Given the description of an element on the screen output the (x, y) to click on. 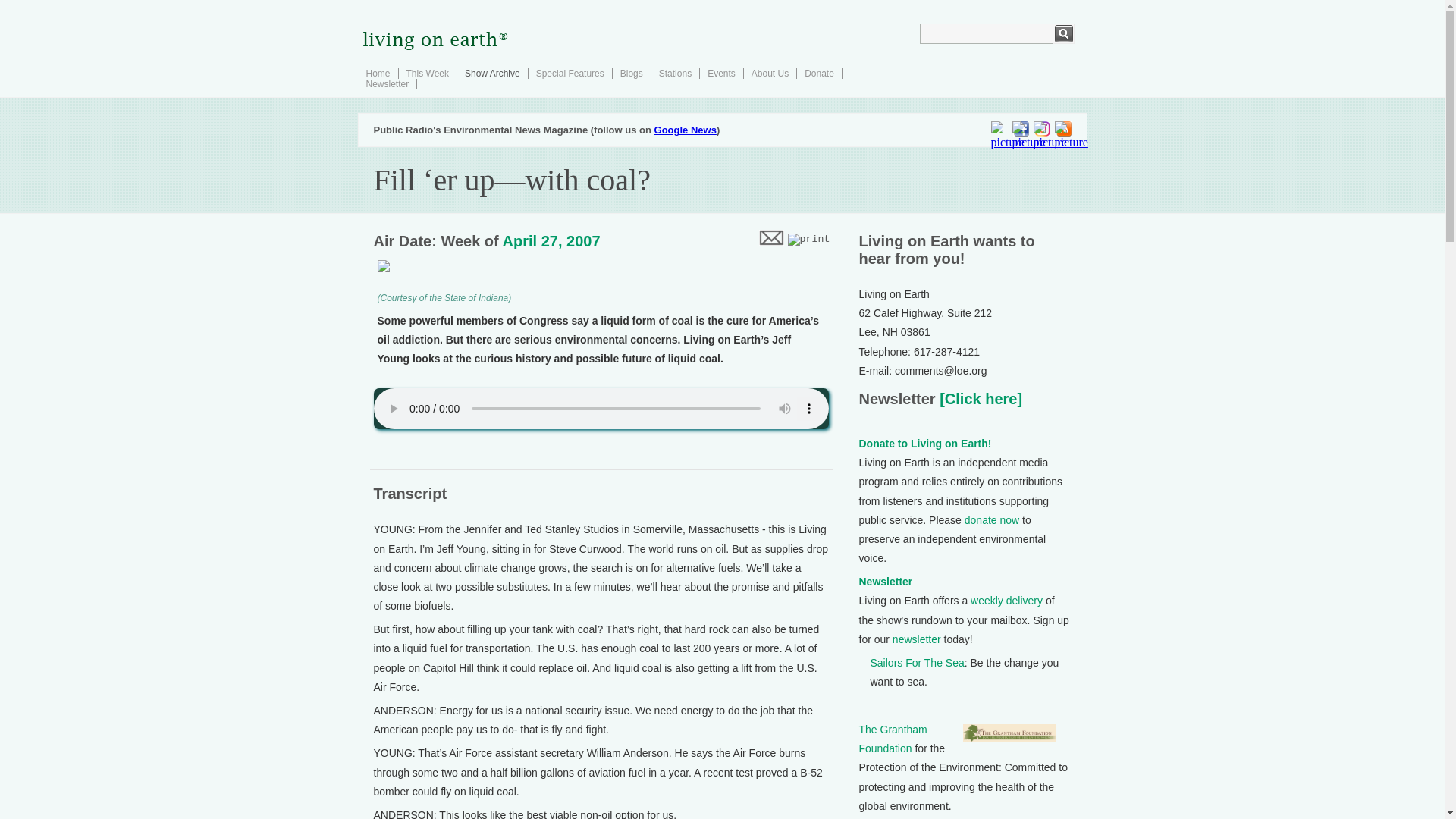
April 27, 2007 (550, 240)
print (808, 239)
Google News (684, 129)
email (770, 236)
Special Features (569, 72)
Blogs (631, 72)
Donate to Living on Earth! (925, 443)
Newsletter (885, 581)
Show Archive (491, 72)
Events (721, 72)
